Given the description of an element on the screen output the (x, y) to click on. 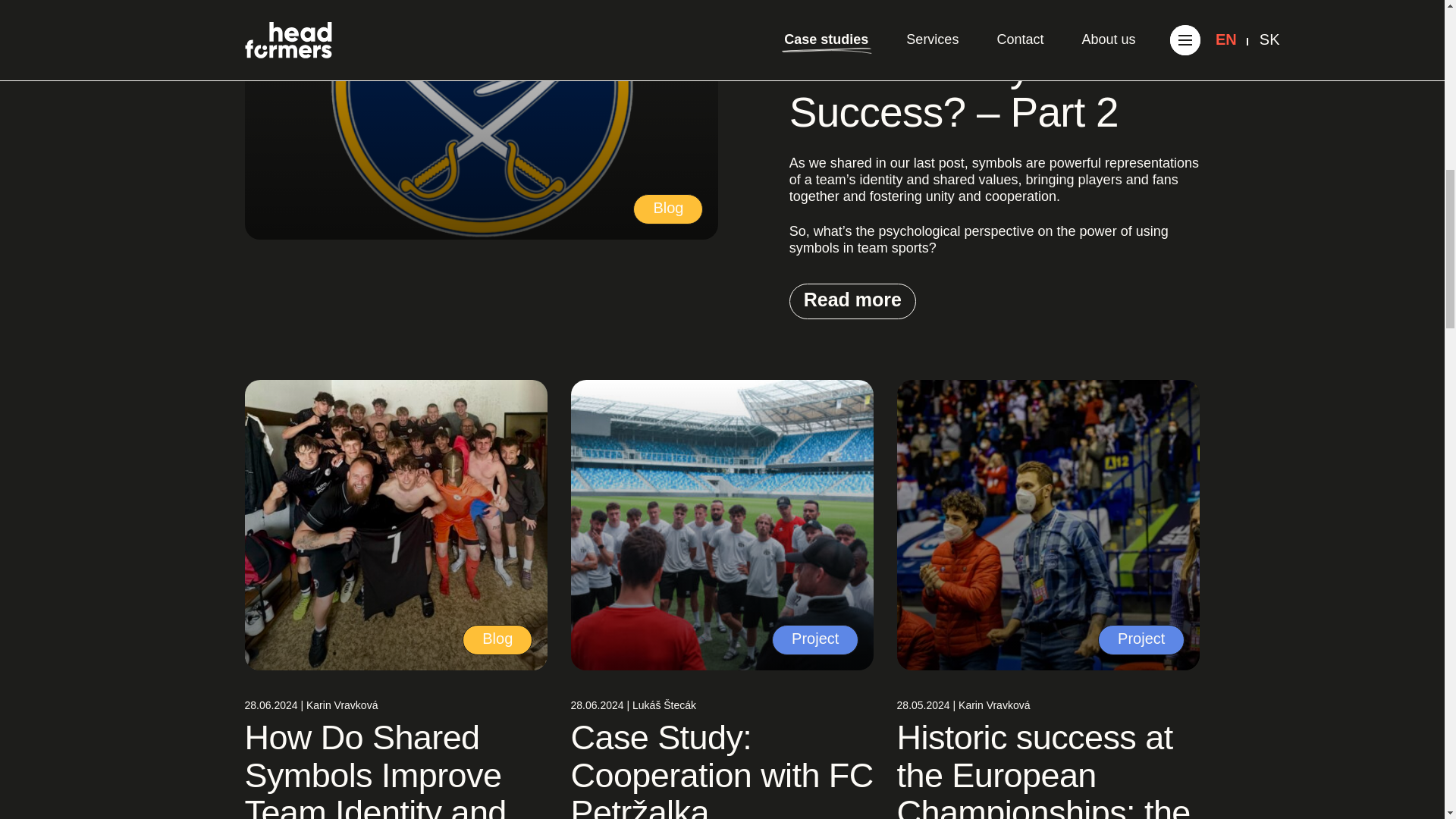
Read more (852, 301)
